Given the description of an element on the screen output the (x, y) to click on. 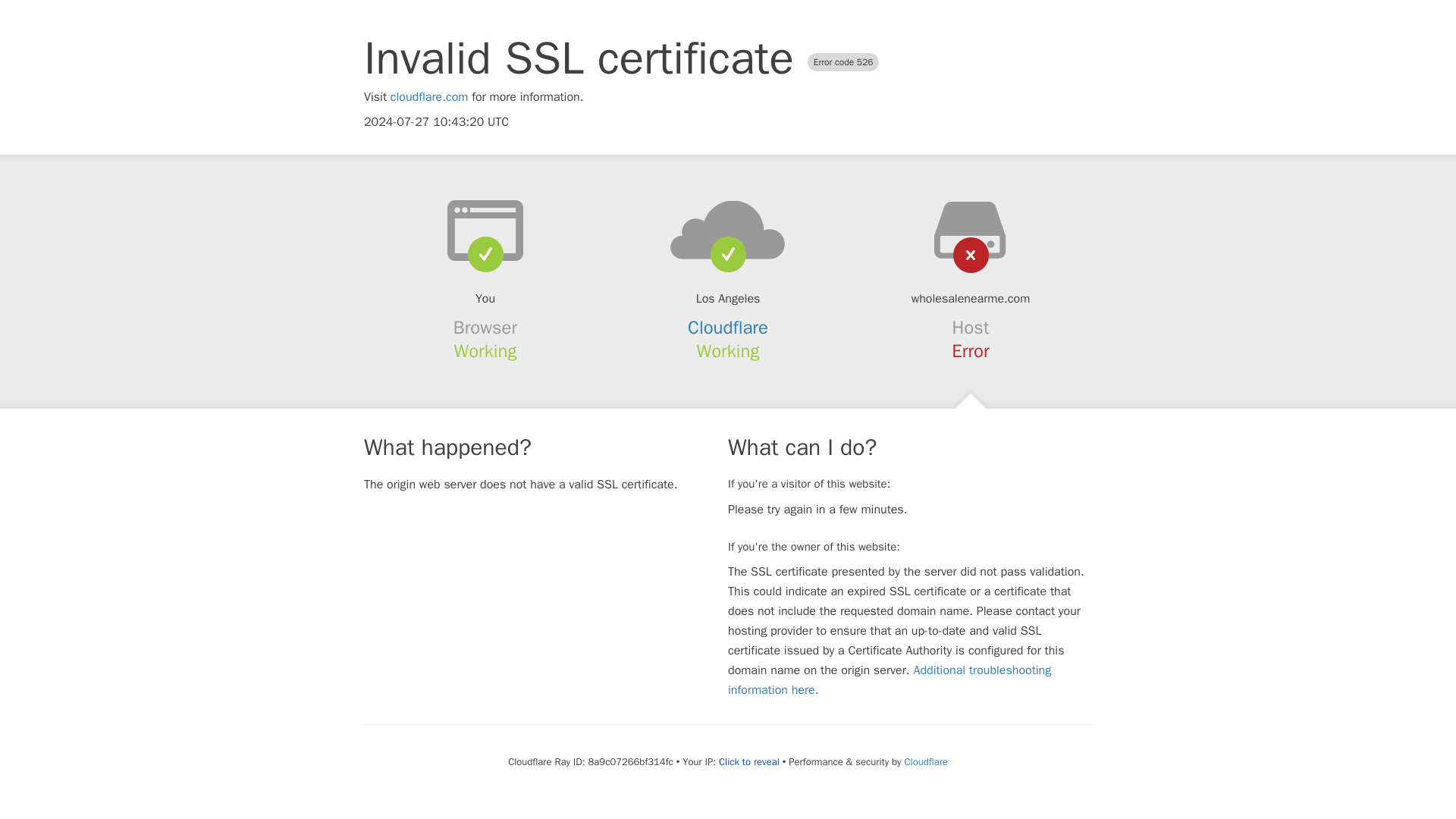
Cloudflare (727, 327)
Click to reveal (748, 762)
Cloudflare (925, 761)
cloudflare.com (429, 96)
Additional troubleshooting information here. (889, 679)
